Given the description of an element on the screen output the (x, y) to click on. 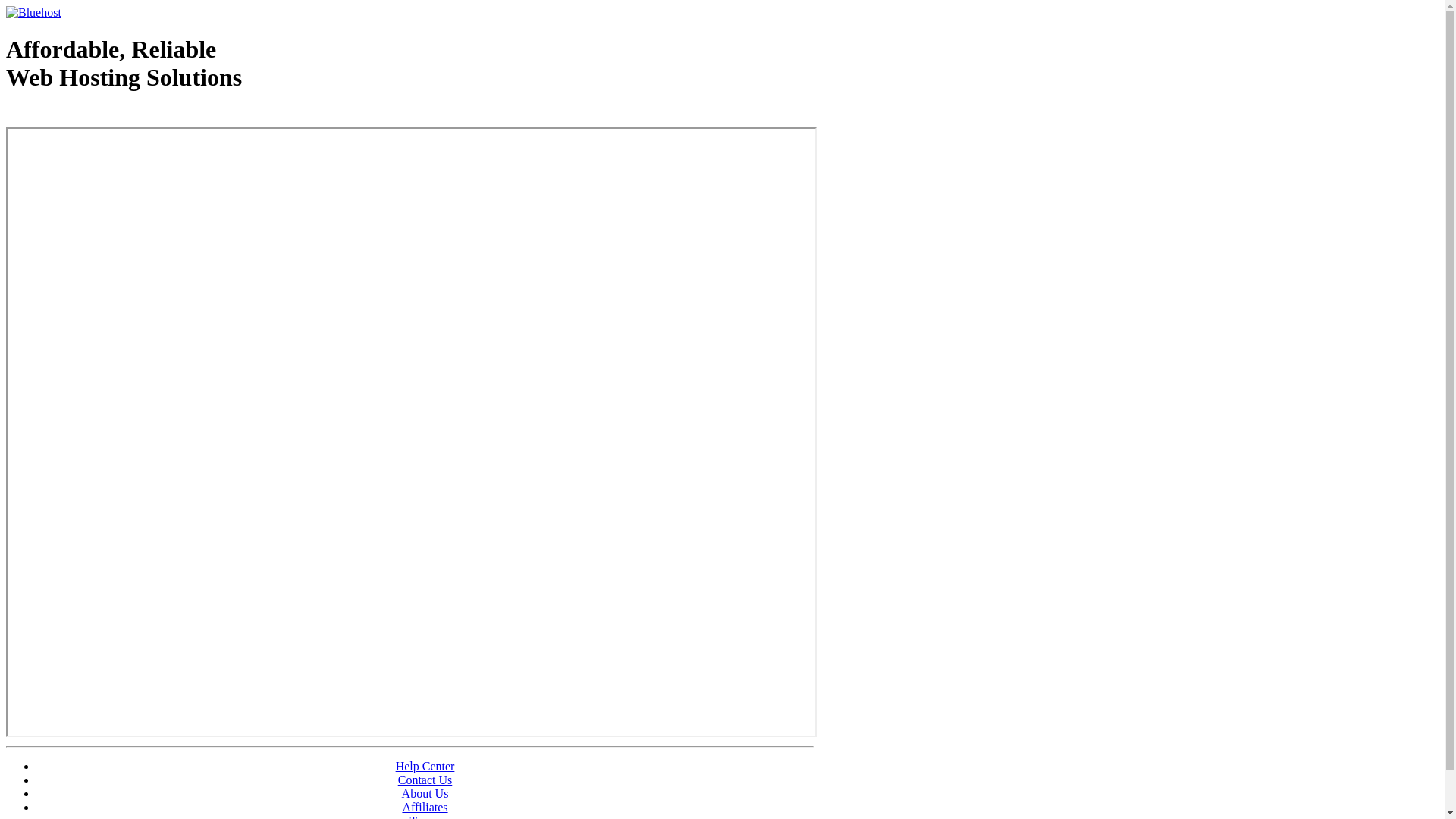
Web Hosting - courtesy of www.bluehost.com Element type: text (94, 115)
About Us Element type: text (424, 793)
Affiliates Element type: text (424, 806)
Help Center Element type: text (425, 765)
Contact Us Element type: text (425, 779)
